Given the description of an element on the screen output the (x, y) to click on. 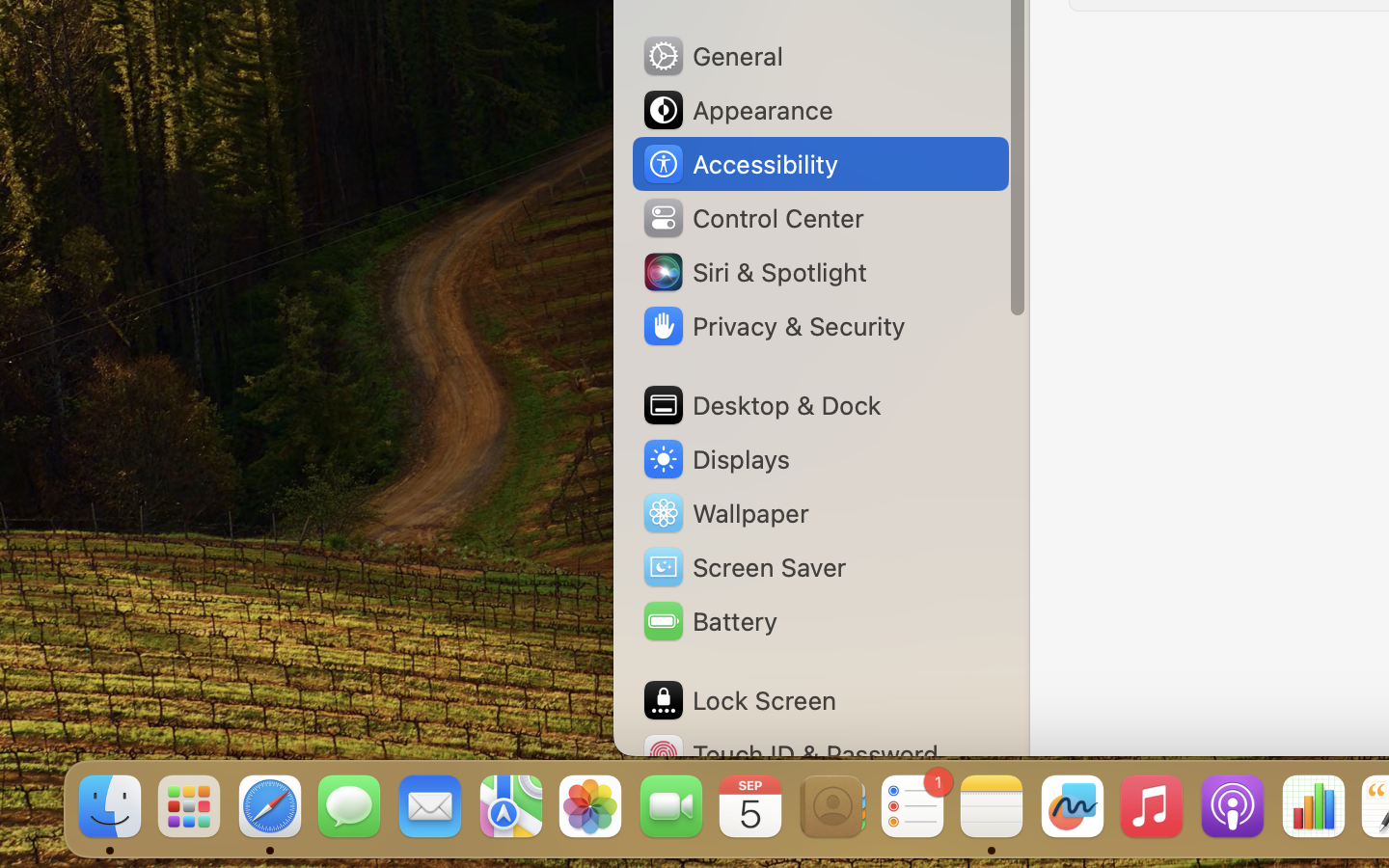
Desktop & Dock Element type: AXStaticText (760, 404)
Accessibility Element type: AXStaticText (739, 163)
Privacy & Security Element type: AXStaticText (772, 325)
Lock Screen Element type: AXStaticText (738, 700)
Control Center Element type: AXStaticText (752, 217)
